Given the description of an element on the screen output the (x, y) to click on. 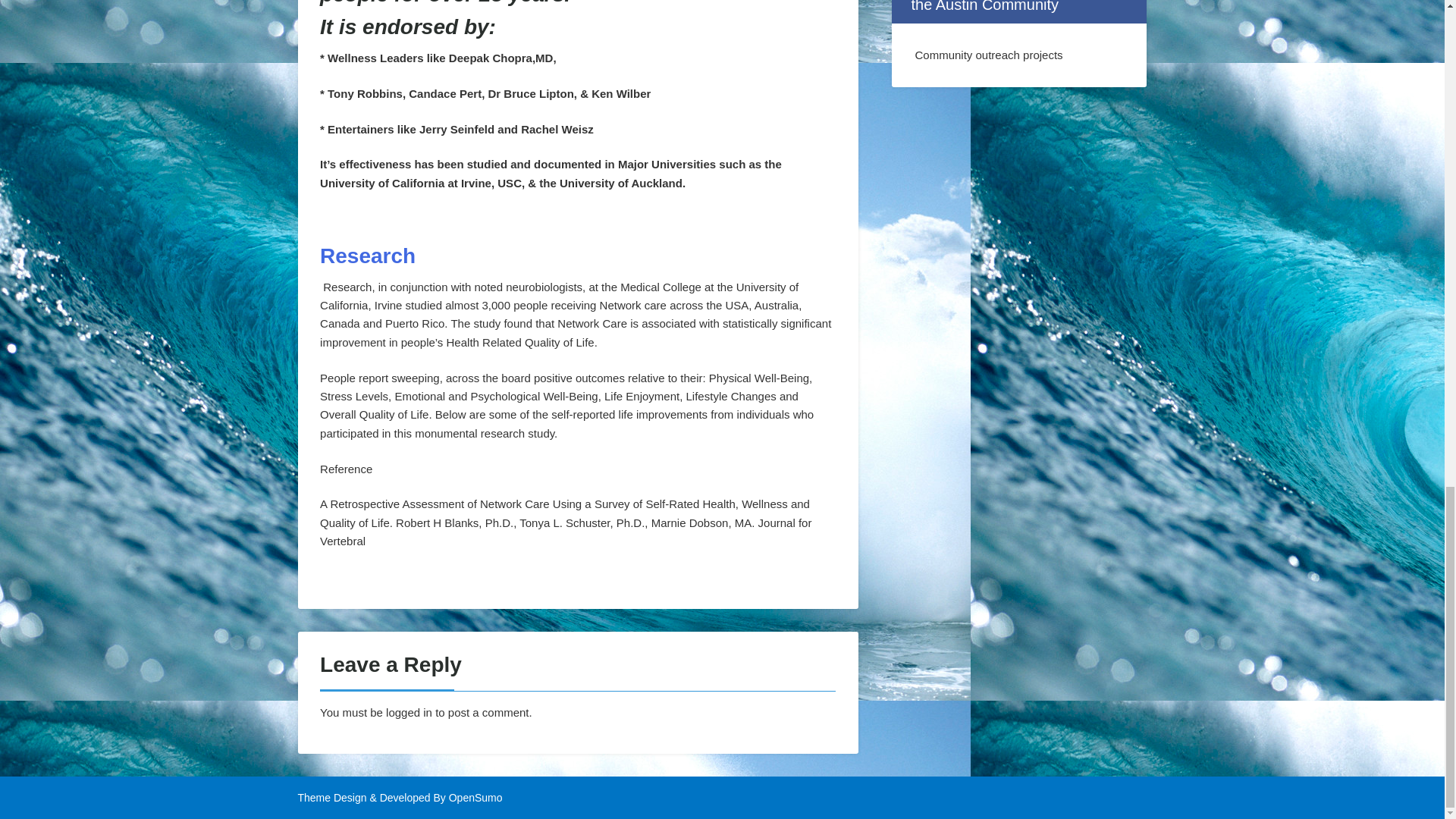
Research (367, 255)
